Given the description of an element on the screen output the (x, y) to click on. 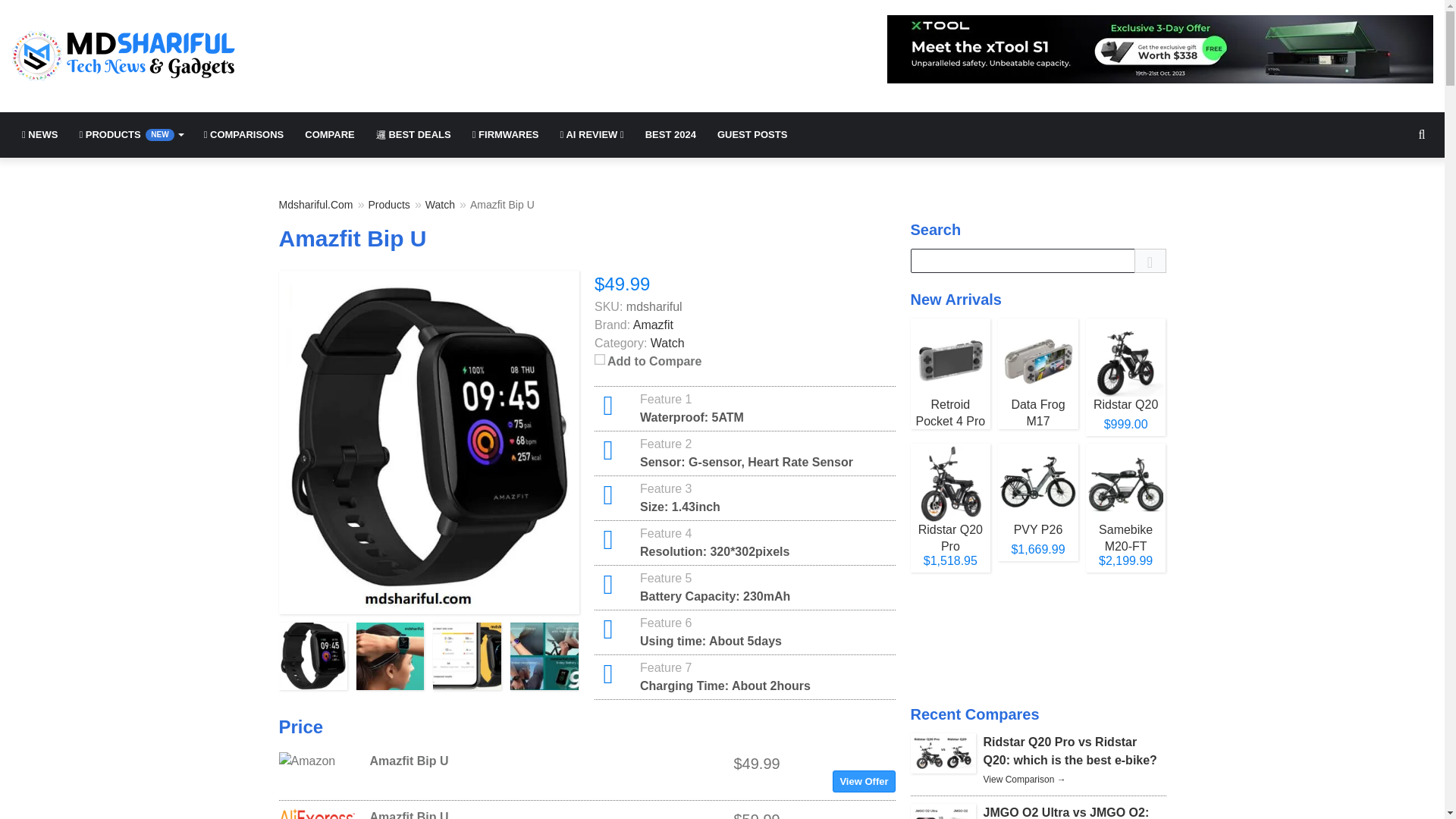
NEWS (39, 135)
COMPARE (329, 135)
FIRMWARES (505, 135)
Watch (439, 204)
Ridstar Q20 Pro vs Ridstar Q20: which is the best e-bike? (1069, 750)
BEST 2024 (670, 135)
Watch (667, 342)
COMPARISONS (244, 135)
GUEST POSTS (751, 135)
Products (389, 204)
View Offer (863, 781)
Ridstar Q20 Pro vs Ridstar Q20: which is the best e-bike? (1023, 778)
Mdsharful.com (124, 55)
BEST DEALS (413, 135)
Mdshariful.Com (316, 204)
